Given the description of an element on the screen output the (x, y) to click on. 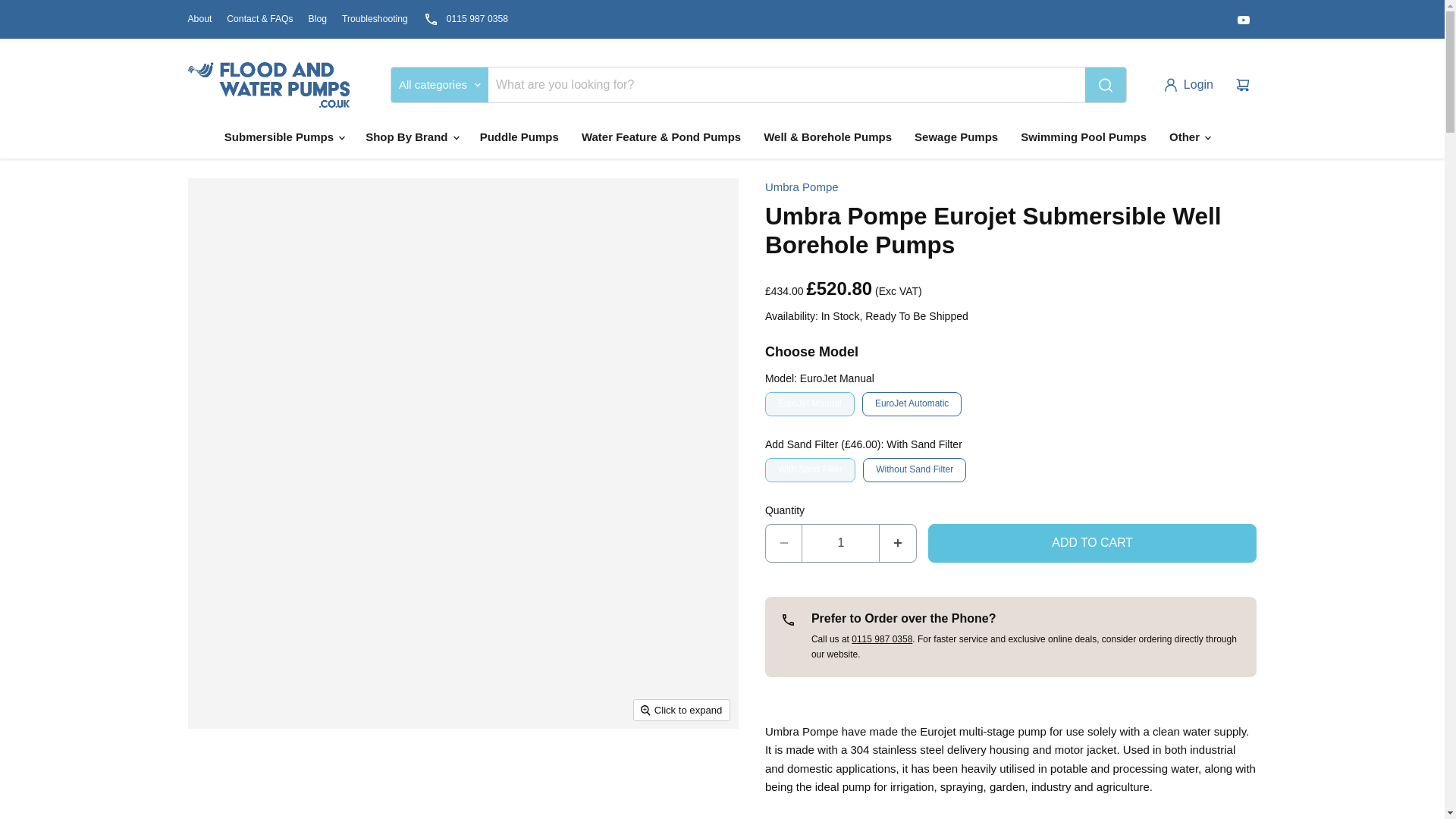
Sewage Pumps (955, 136)
1 (840, 542)
Troubleshooting (374, 18)
About (199, 18)
YouTube (1243, 19)
Puddle Pumps (519, 136)
Blog (317, 18)
Login (1190, 84)
Umbra Pompe (801, 186)
Swimming Pool Pumps (1083, 136)
